Given the description of an element on the screen output the (x, y) to click on. 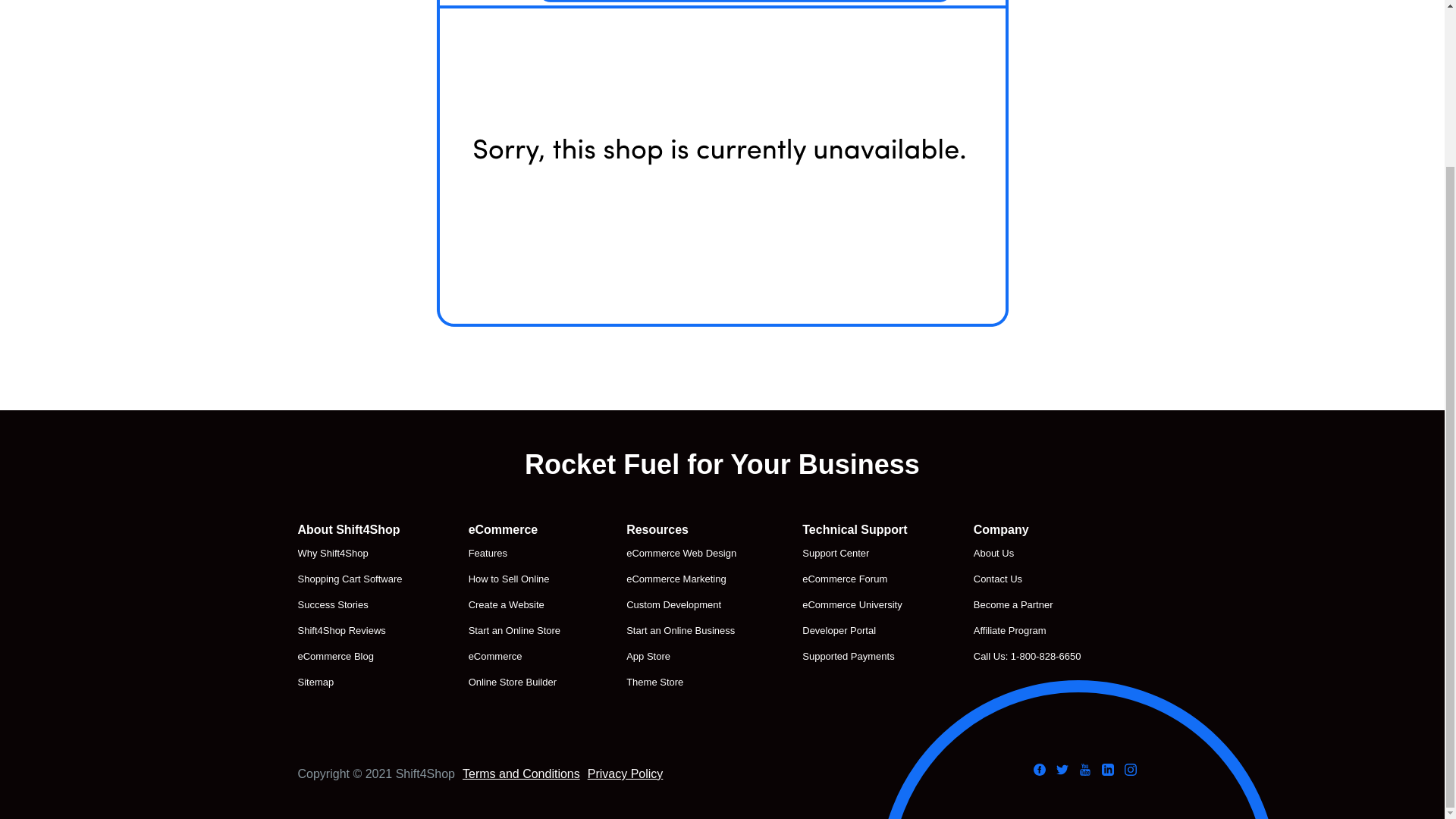
Supported Payments (854, 656)
Privacy Policy (625, 773)
Become a Partner (1027, 604)
Shopping Cart Software (349, 578)
Success Stories (349, 604)
Theme Store (681, 681)
Contact Us (1027, 578)
Online Store Builder (514, 681)
How to Sell Online (514, 578)
eCommerce Blog (349, 656)
Terms and Conditions (521, 773)
eCommerce (514, 656)
Start an Online Store (514, 630)
Support Center (854, 553)
About Us (1027, 553)
